Given the description of an element on the screen output the (x, y) to click on. 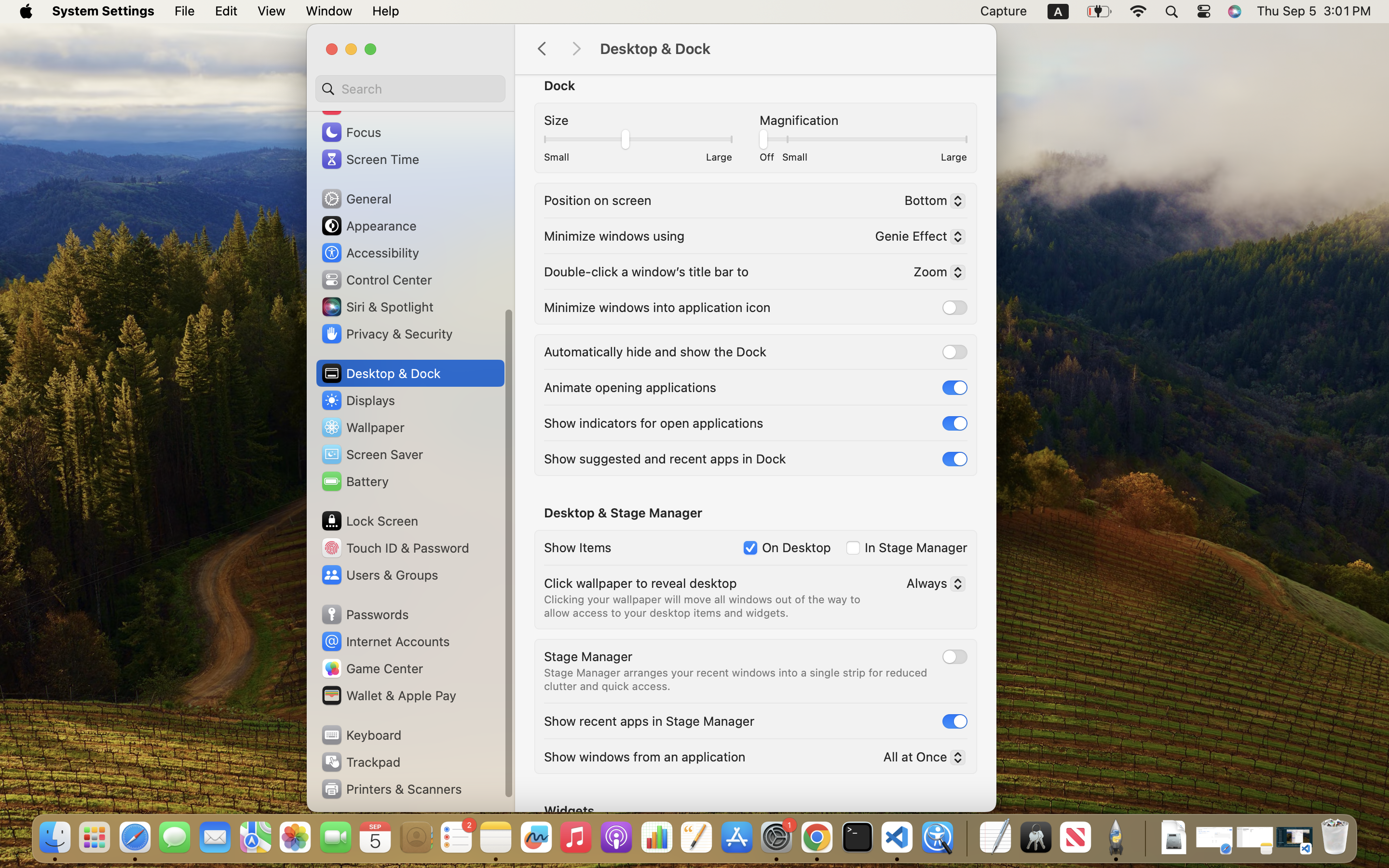
Double-click a window’s title bar to Element type: AXStaticText (646, 270)
Automatically hide and show the Dock Element type: AXStaticText (655, 350)
Trackpad Element type: AXStaticText (360, 761)
General Element type: AXStaticText (355, 198)
0.0 Element type: AXSlider (862, 136)
